Given the description of an element on the screen output the (x, y) to click on. 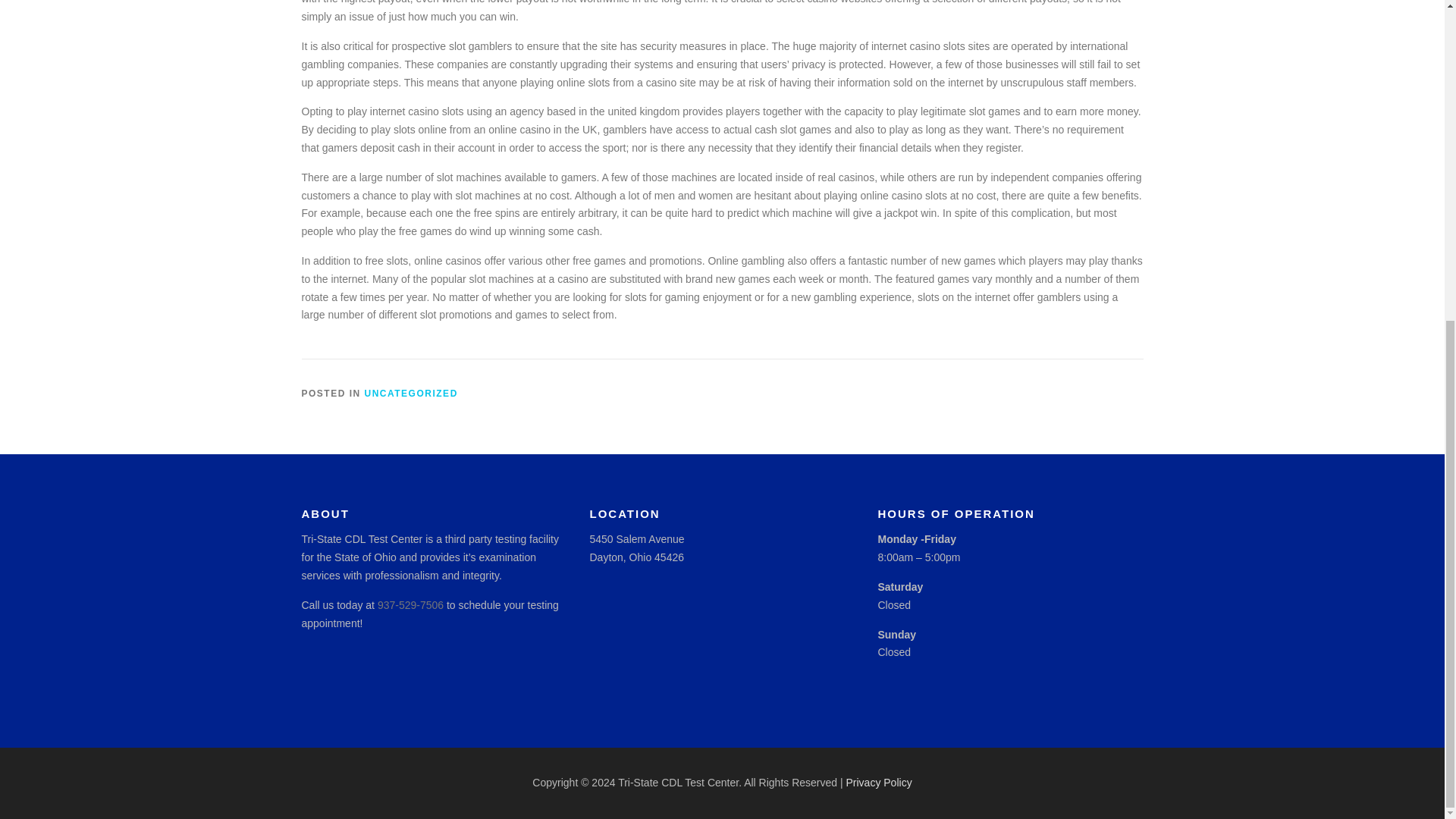
UNCATEGORIZED (411, 393)
937-529-7506 (410, 604)
Privacy Policy (878, 782)
